Given the description of an element on the screen output the (x, y) to click on. 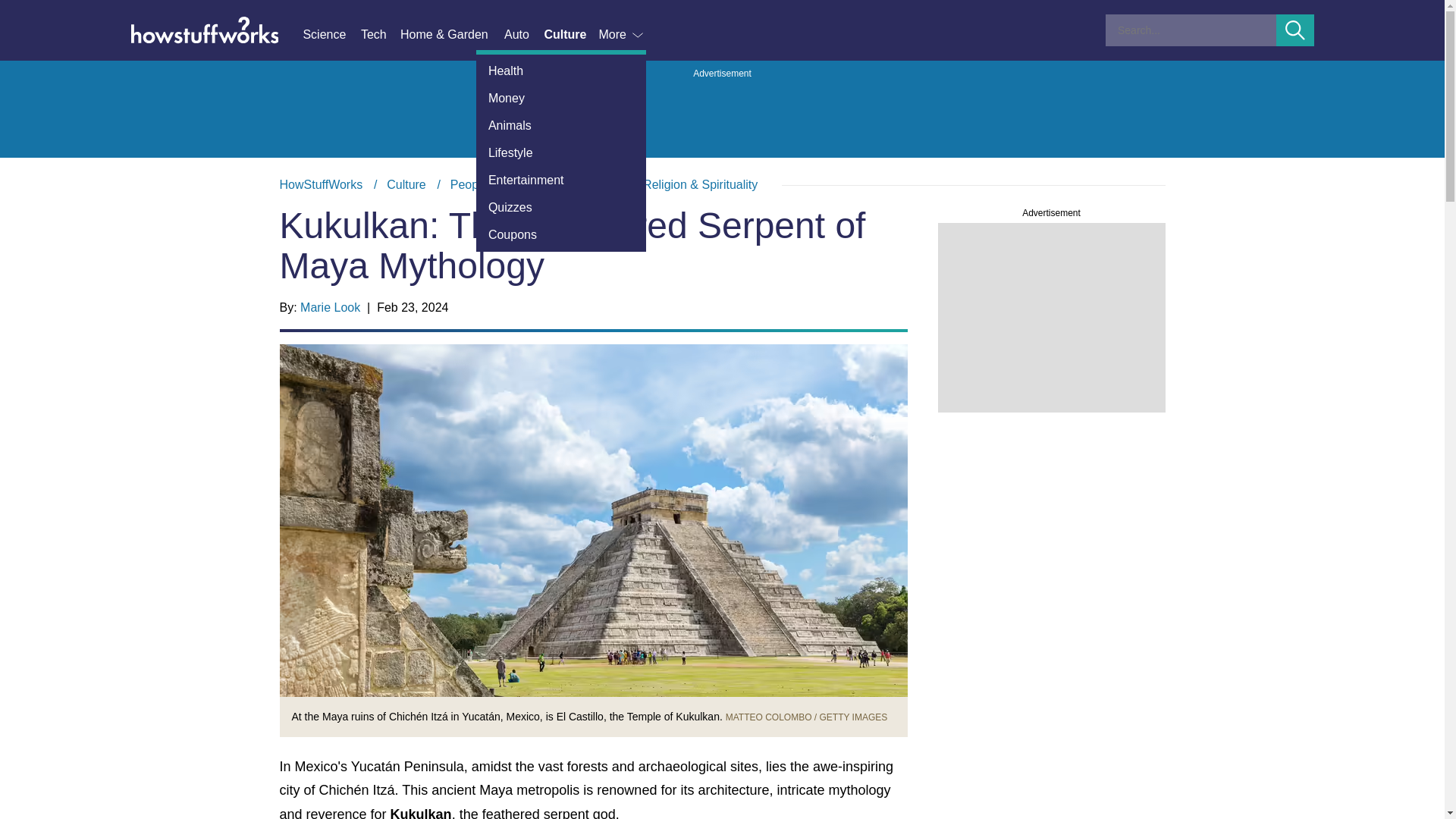
HowStuffWorks (320, 184)
Coupons (561, 234)
Health (561, 71)
Entertainment (561, 180)
Culture (570, 34)
More (621, 34)
Lifestyle (561, 153)
Money (561, 98)
Animals (561, 125)
Submit Search (1295, 29)
Science (330, 34)
Tech (380, 34)
People (468, 184)
Auto (523, 34)
Quizzes (561, 207)
